Given the description of an element on the screen output the (x, y) to click on. 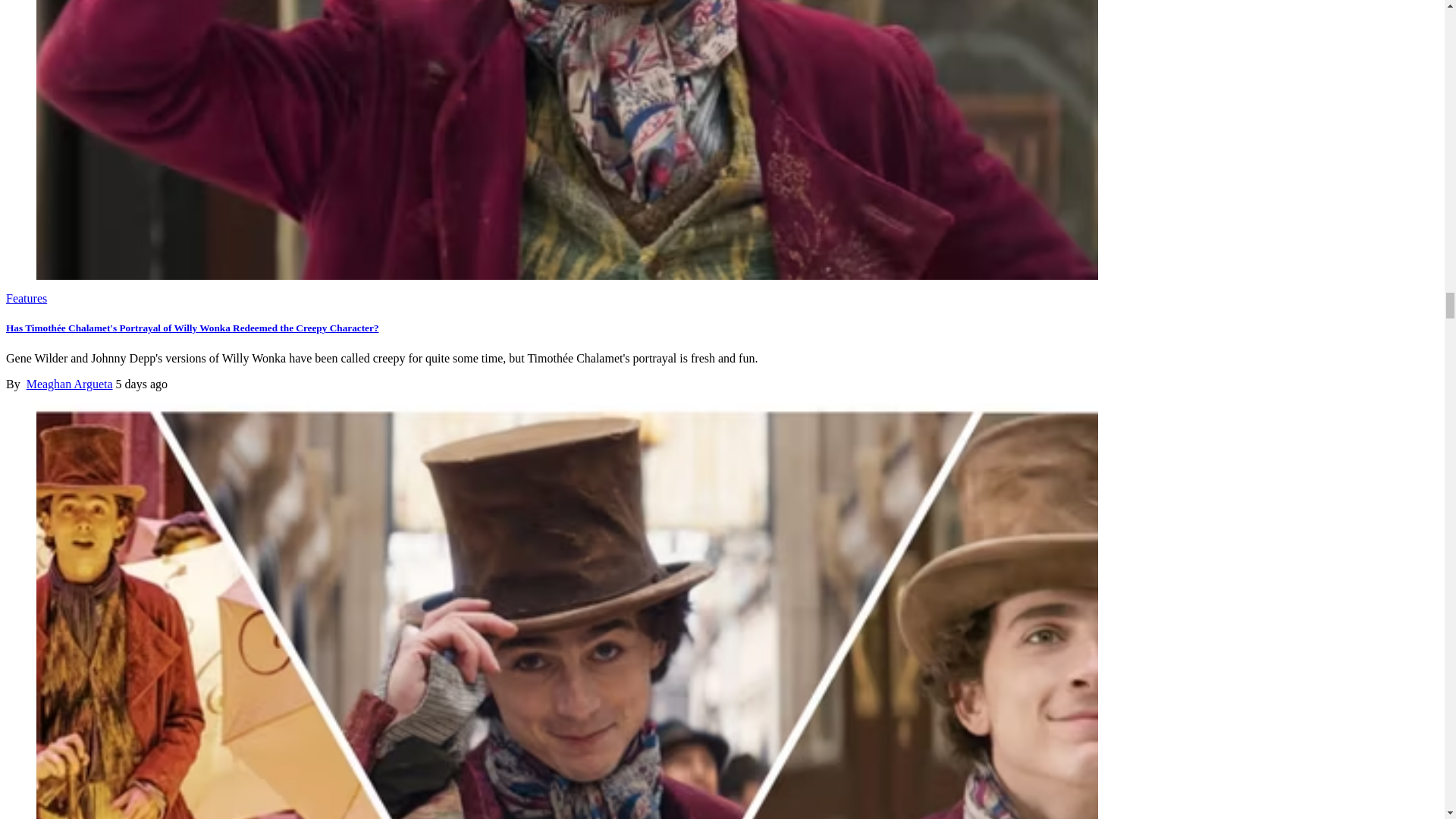
Posts by Meaghan Argueta (69, 383)
